Given the description of an element on the screen output the (x, y) to click on. 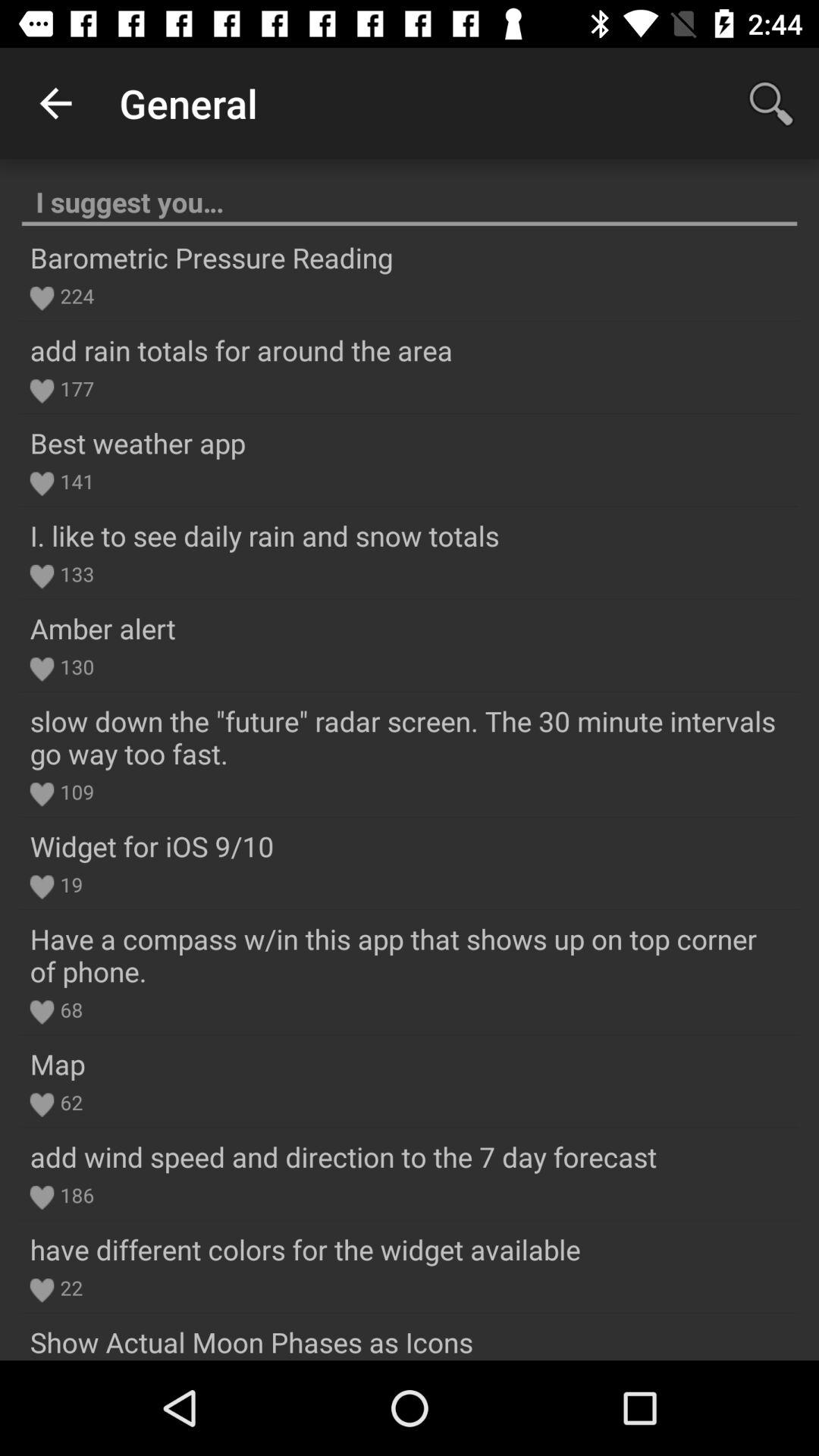
jump to 22 item (68, 1287)
